Given the description of an element on the screen output the (x, y) to click on. 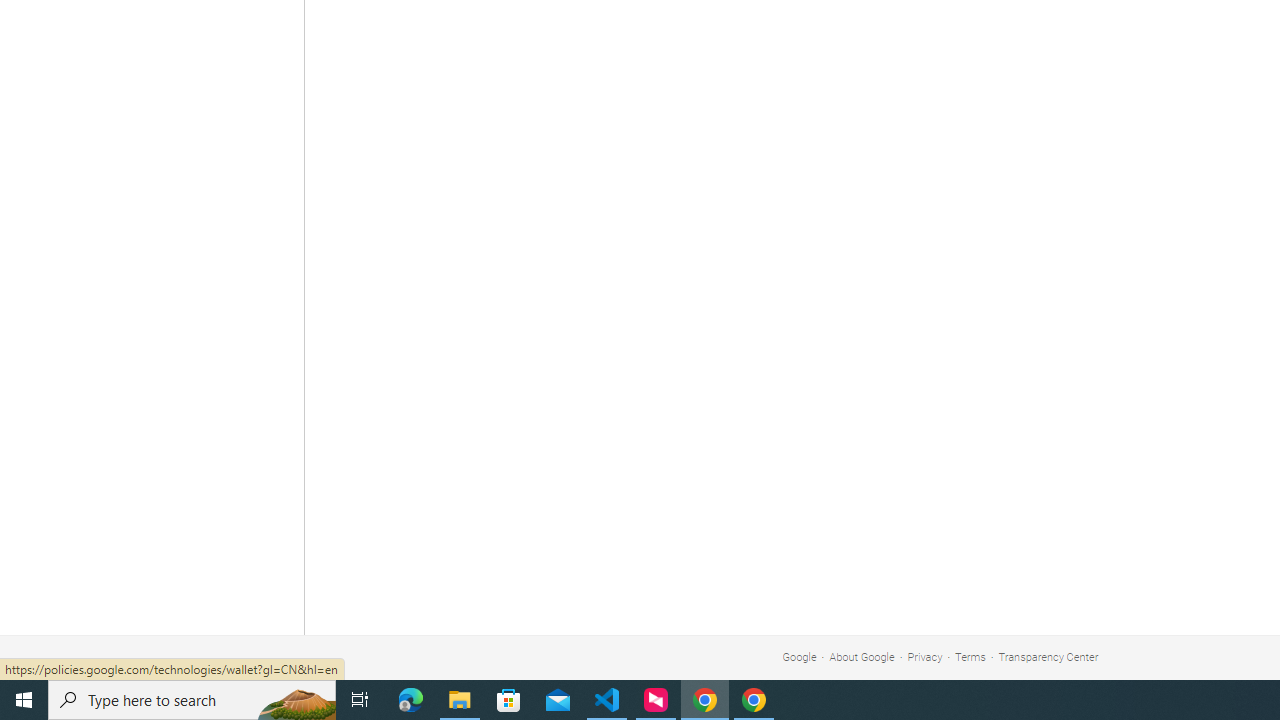
Transparency Center (1048, 656)
About Google (861, 656)
